Given the description of an element on the screen output the (x, y) to click on. 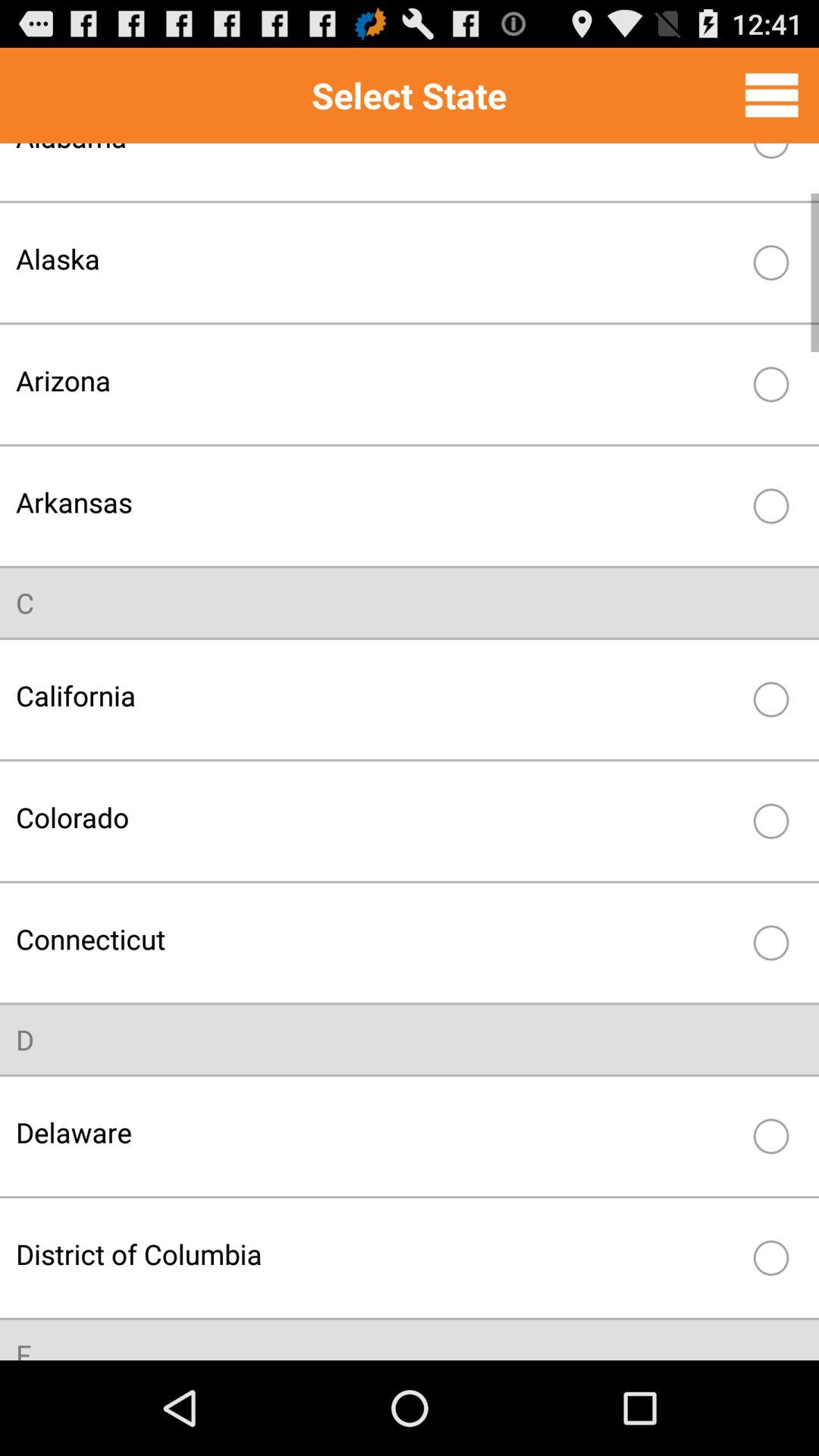
full menu option (771, 95)
